Given the description of an element on the screen output the (x, y) to click on. 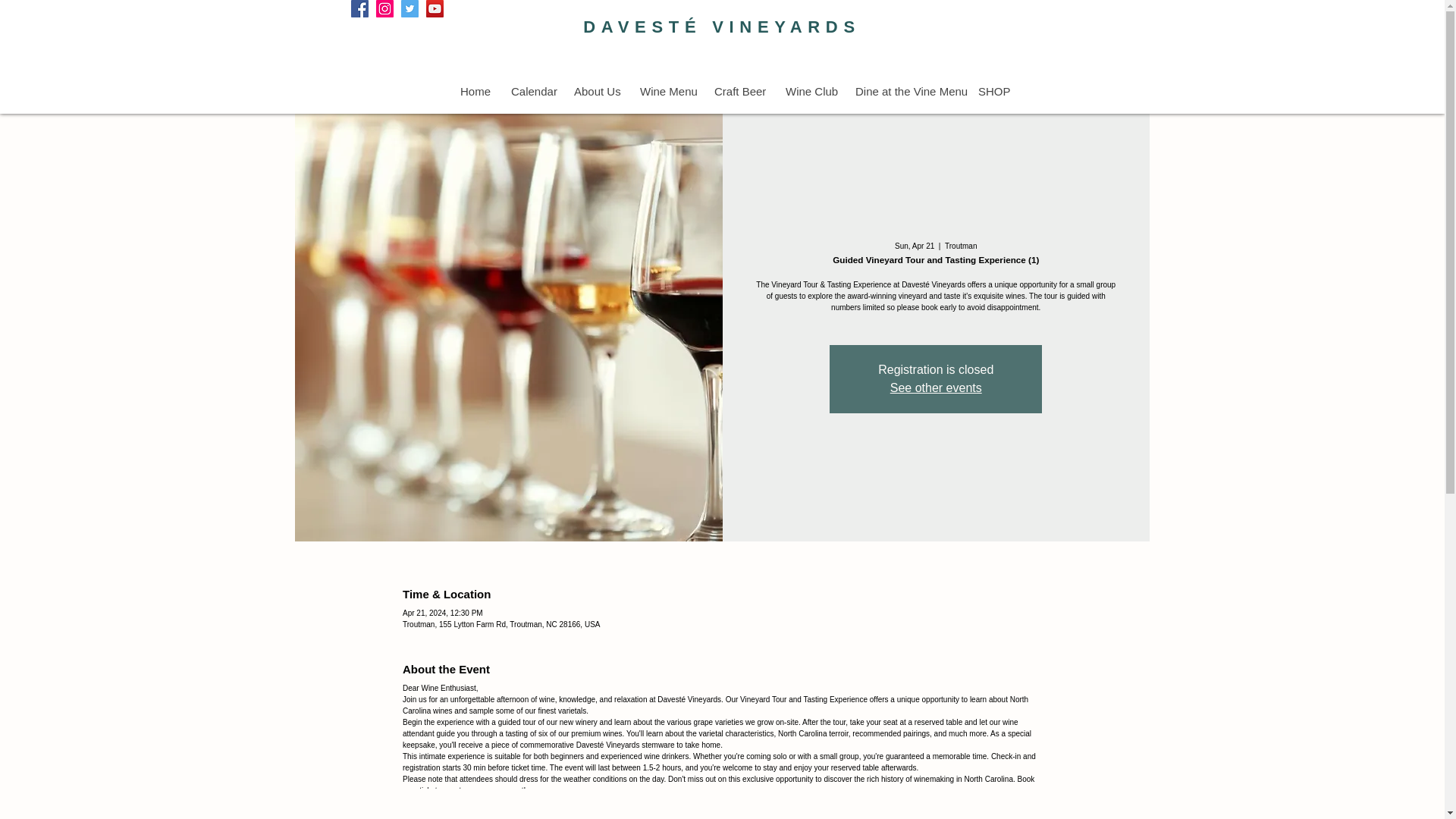
Wine Menu (664, 90)
See other events (935, 387)
About Us (594, 90)
Wine Club (808, 90)
Home (473, 90)
SHOP (993, 90)
Craft Beer (737, 90)
Dine at the Vine Menu (904, 90)
Calendar (530, 90)
